Given the description of an element on the screen output the (x, y) to click on. 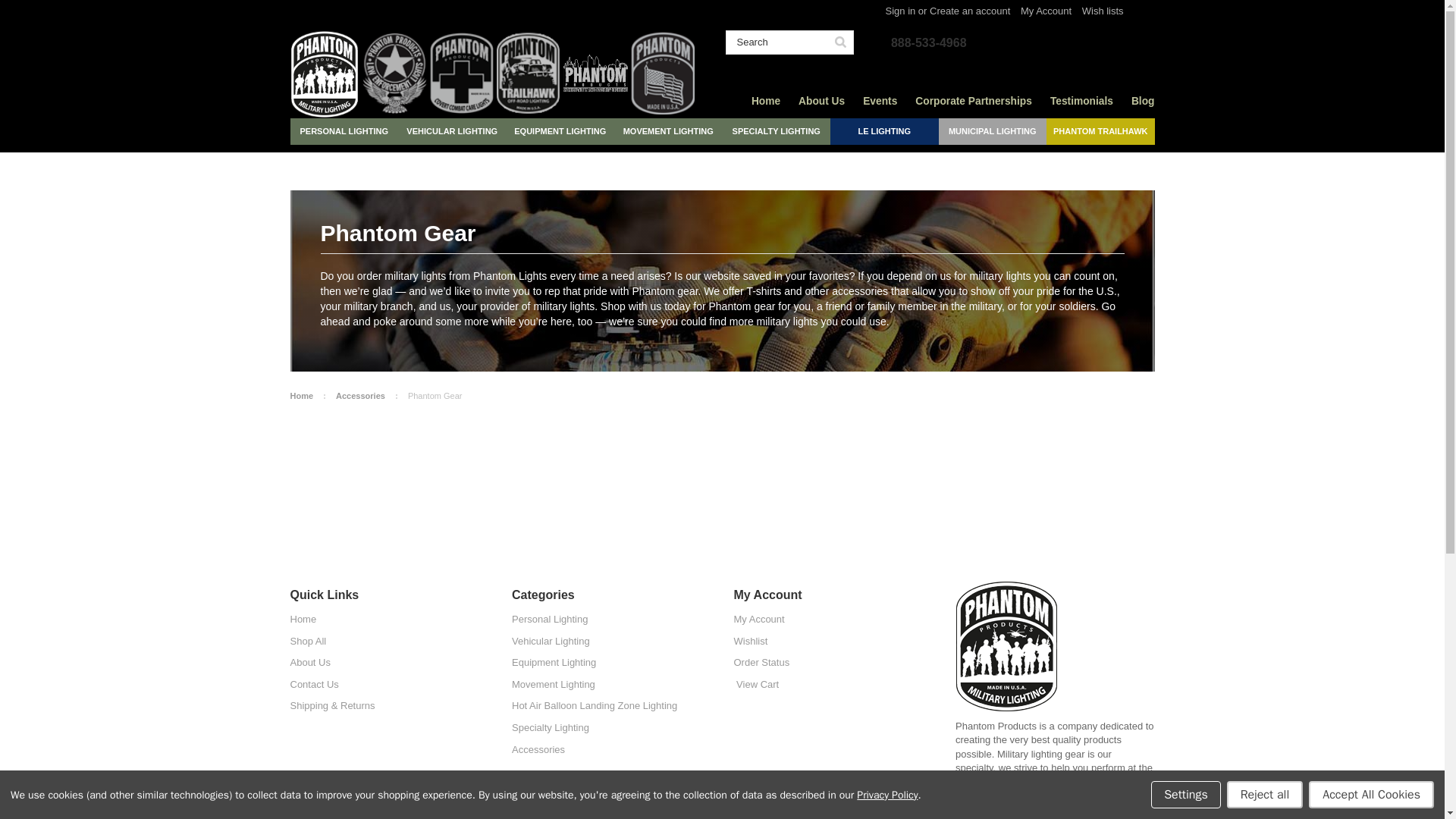
Search (840, 42)
Search (776, 42)
